Given the description of an element on the screen output the (x, y) to click on. 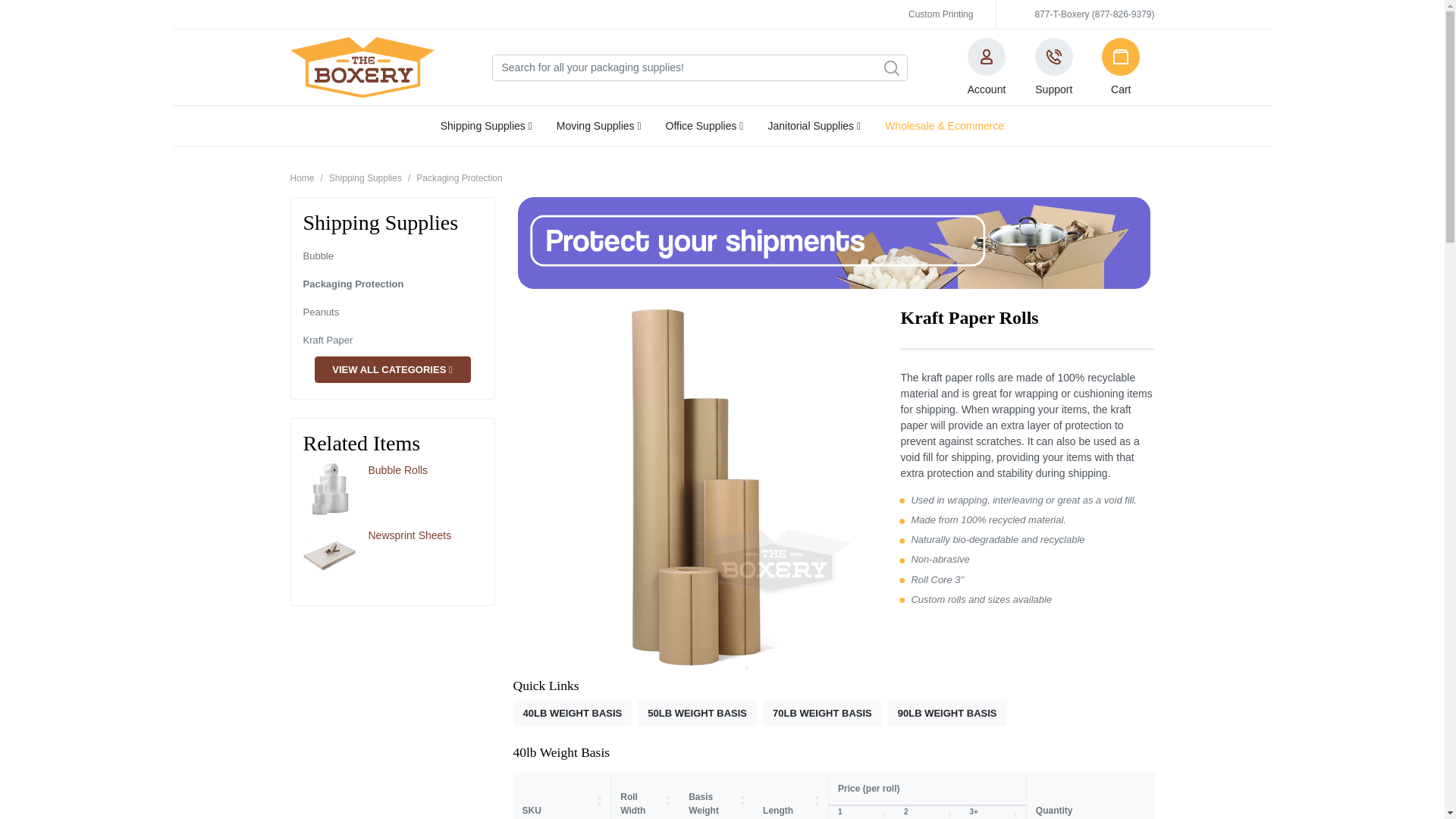
Account (986, 67)
Custom Printing (940, 14)
Bubble (317, 255)
Cart (1120, 67)
Support (1053, 67)
Shipping Supplies (485, 126)
SEARCH (890, 67)
Peanuts (320, 311)
Kraft Paper (327, 339)
Packaging Protection (353, 283)
877-T-Boxery (1093, 14)
